Given the description of an element on the screen output the (x, y) to click on. 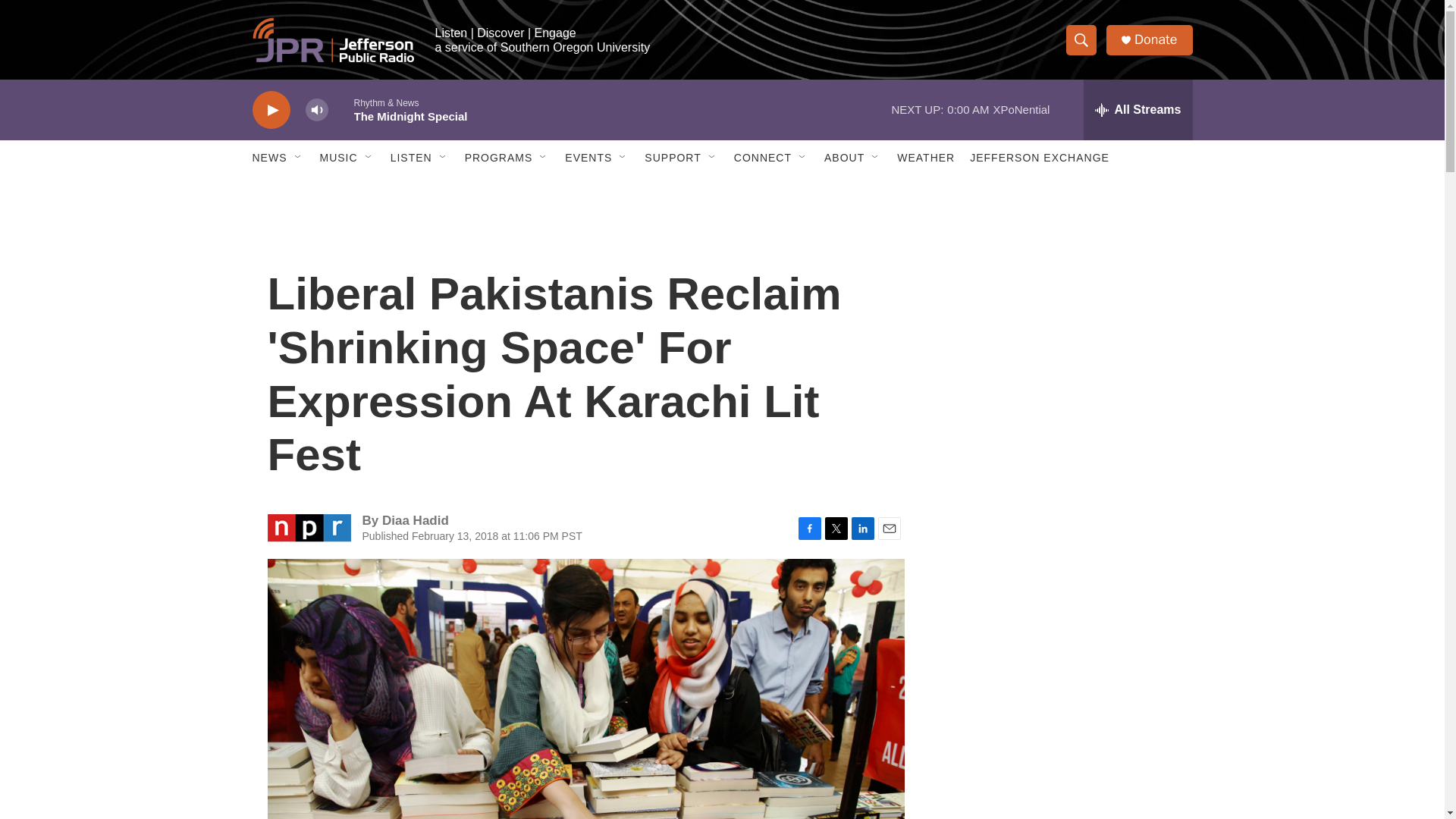
3rd party ad content (1062, 316)
3rd party ad content (1062, 740)
3rd party ad content (1062, 536)
